Given the description of an element on the screen output the (x, y) to click on. 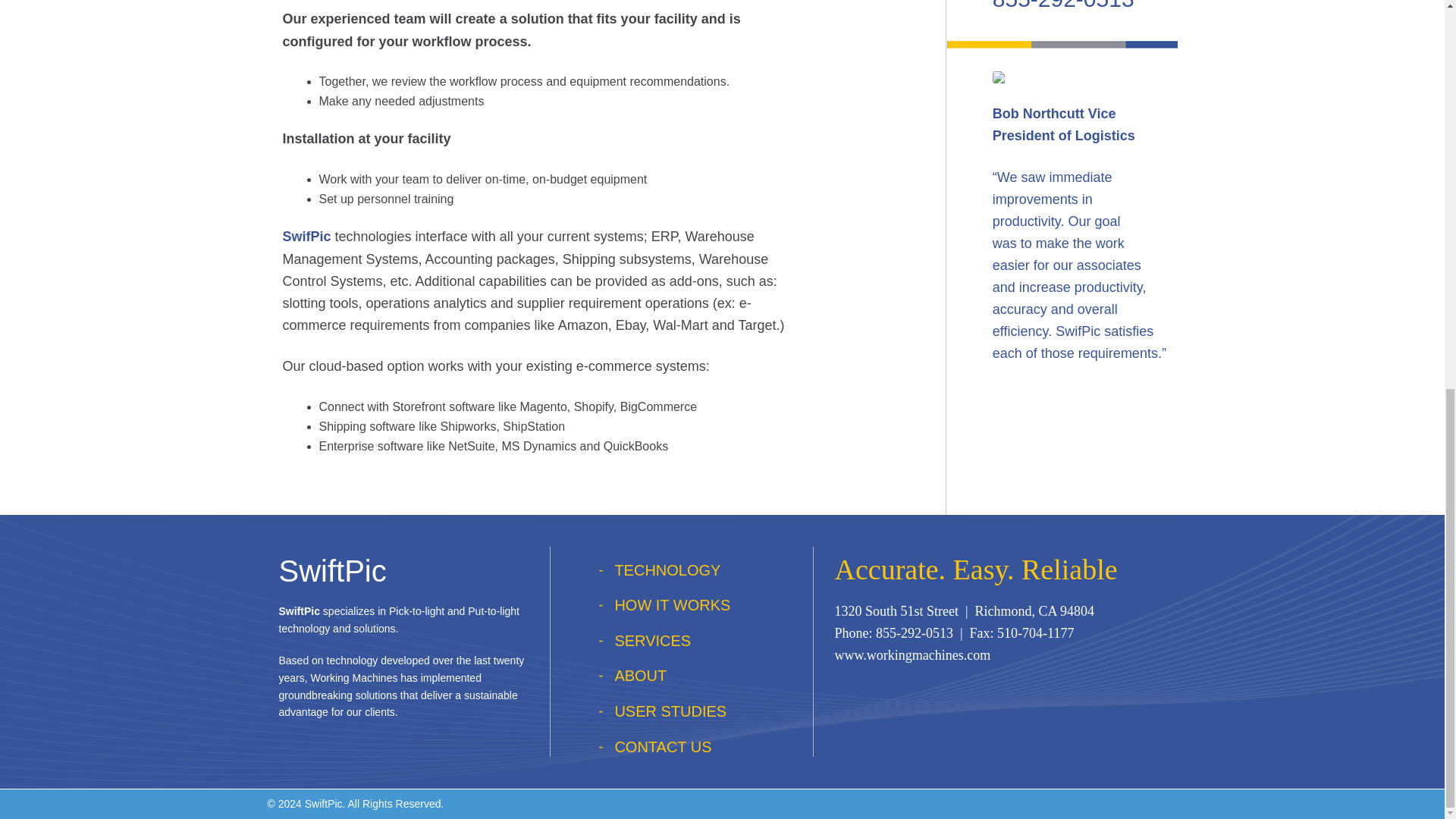
CONTACT US (662, 746)
HOW IT WORKS (672, 605)
USER STUDIES (670, 710)
TECHNOLOGY (667, 569)
SERVICES (652, 640)
ABOUT (640, 675)
